Given the description of an element on the screen output the (x, y) to click on. 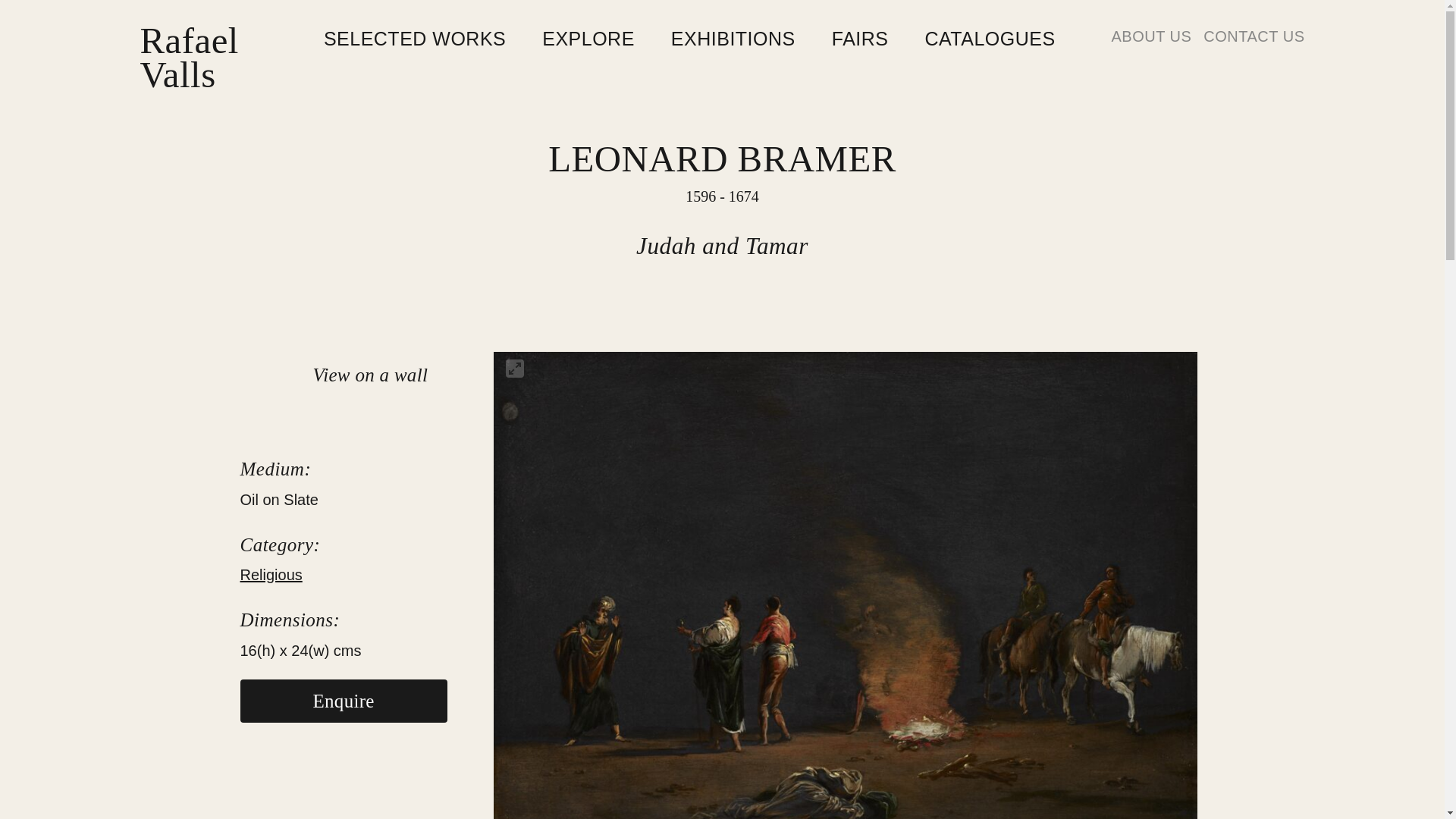
CONTACT US (1254, 35)
Enquire (188, 57)
CATALOGUES (343, 700)
View on a wall (989, 39)
View full-screen (334, 375)
FAIRS (513, 368)
ABOUT US (859, 39)
EXHIBITIONS (1150, 35)
EXPLORE (732, 39)
Religious (587, 39)
SELECTED WORKS (270, 574)
Rafael Valls (414, 39)
